Given the description of an element on the screen output the (x, y) to click on. 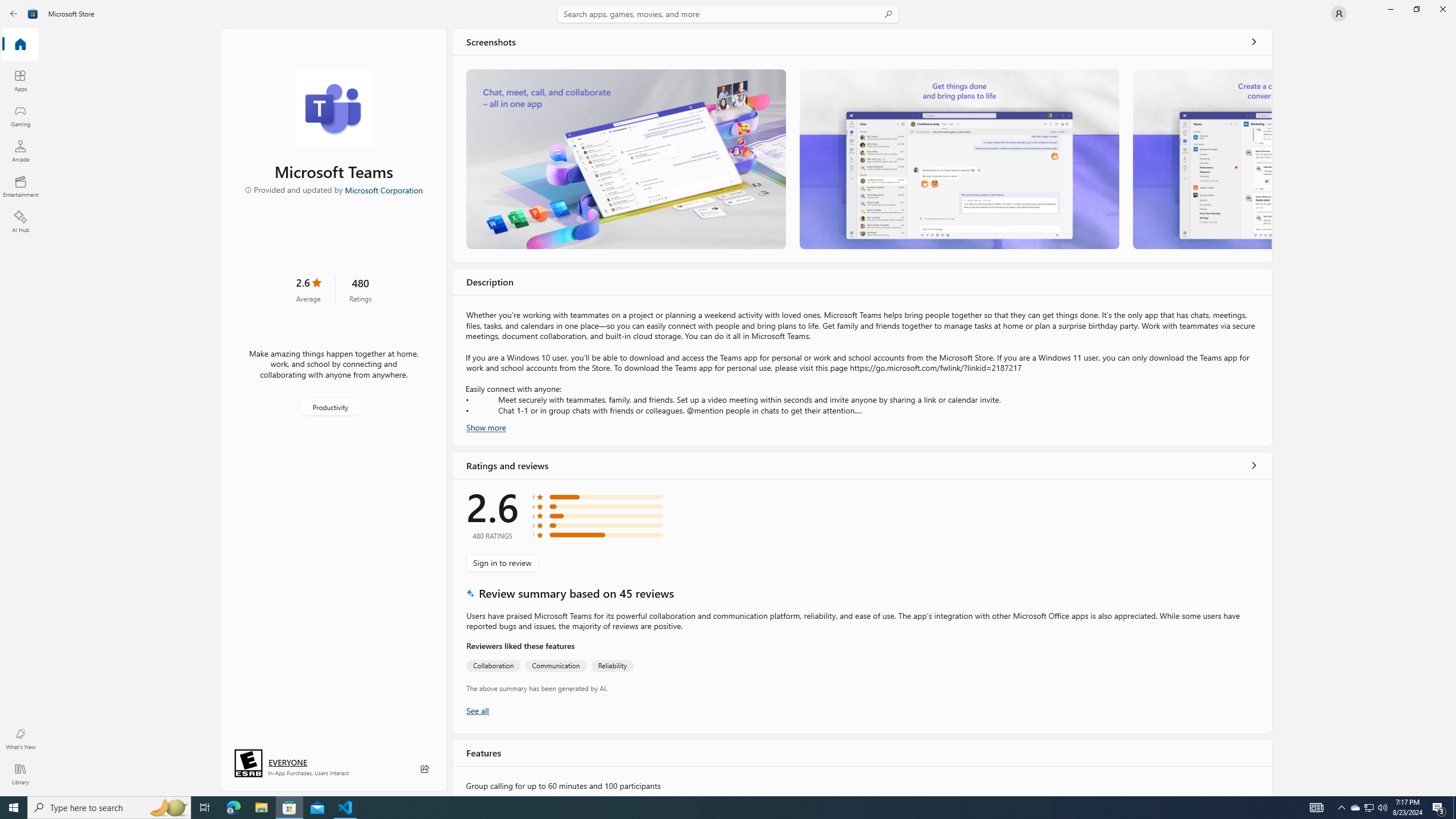
AutomationID: NavigationControl (728, 398)
Sign in to review (501, 562)
Microsoft Corporation (383, 189)
Share (424, 769)
See all (1253, 41)
Productivity (329, 406)
Search (727, 13)
Age rating: EVERYONE. Click for more information. (287, 762)
